Given the description of an element on the screen output the (x, y) to click on. 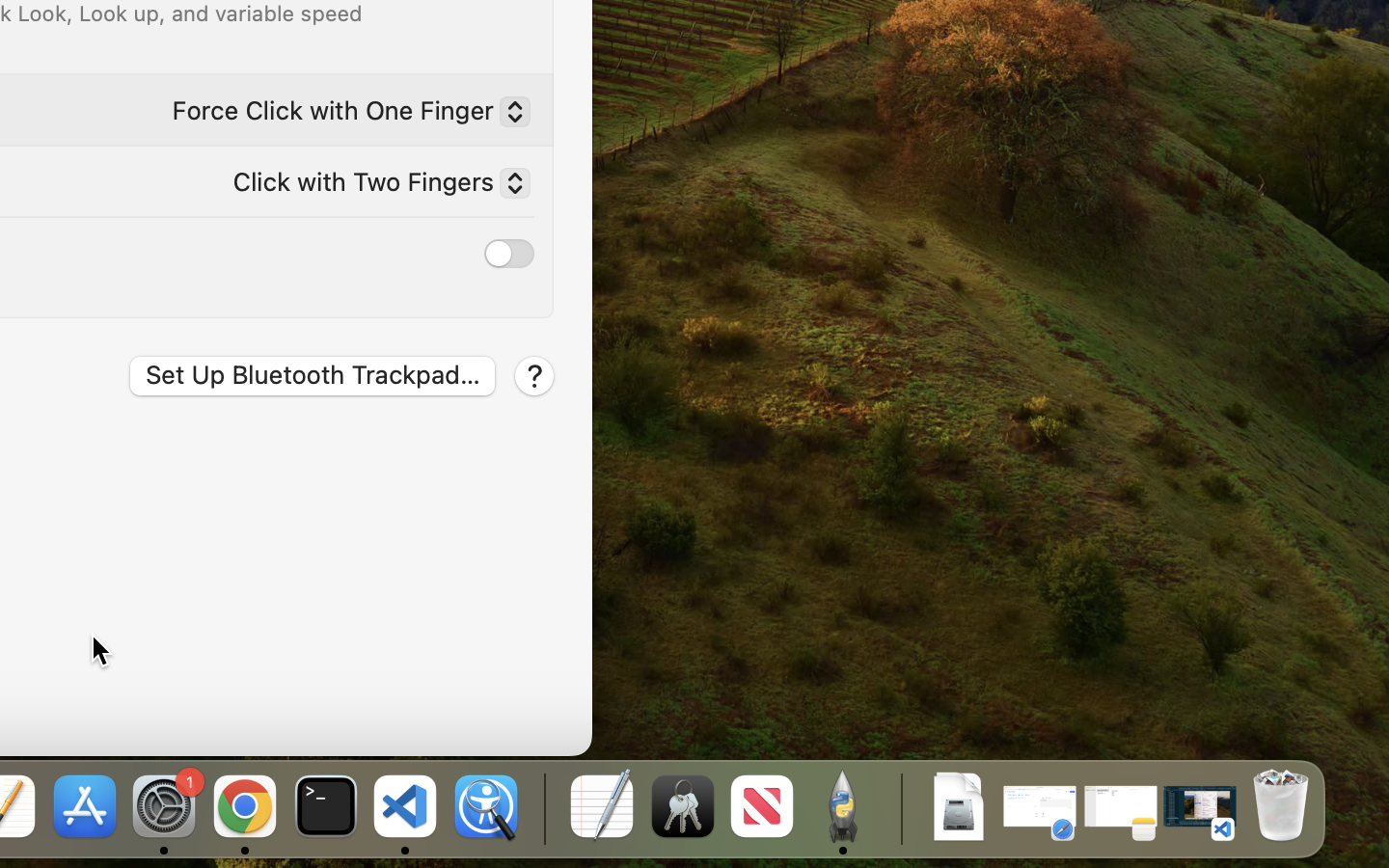
Click with Two Fingers Element type: AXPopUpButton (373, 186)
Force Click with One Finger Element type: AXPopUpButton (343, 114)
